Given the description of an element on the screen output the (x, y) to click on. 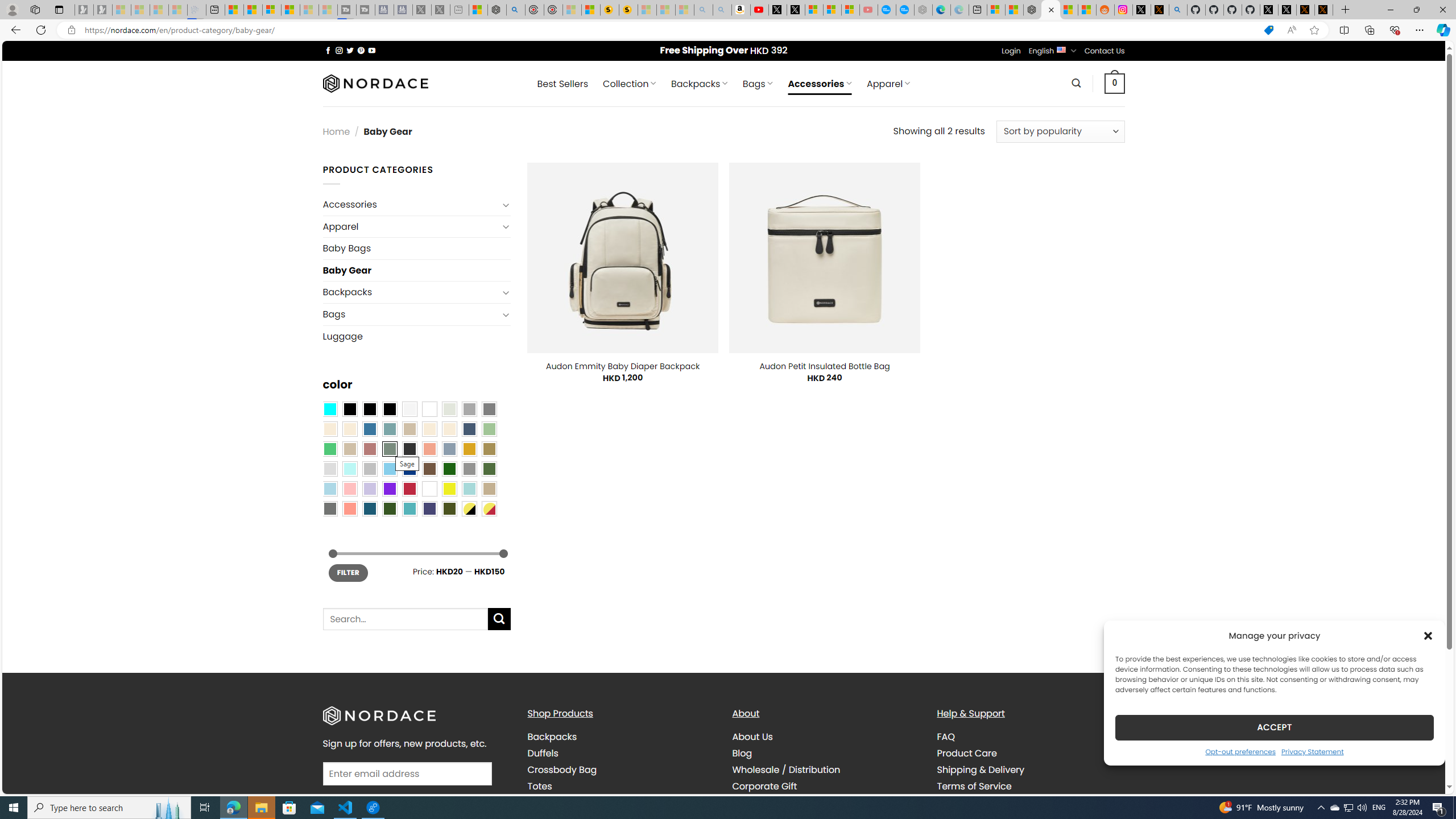
Beige-Brown (349, 428)
Baby Gear (416, 270)
Profile / X (1268, 9)
Blue Sage (389, 428)
Audon Petit Insulated Bottle Bag (823, 365)
Kelp (488, 448)
Accessories (410, 204)
Nordace - Baby Gear (1050, 9)
Silver (369, 468)
